Given the description of an element on the screen output the (x, y) to click on. 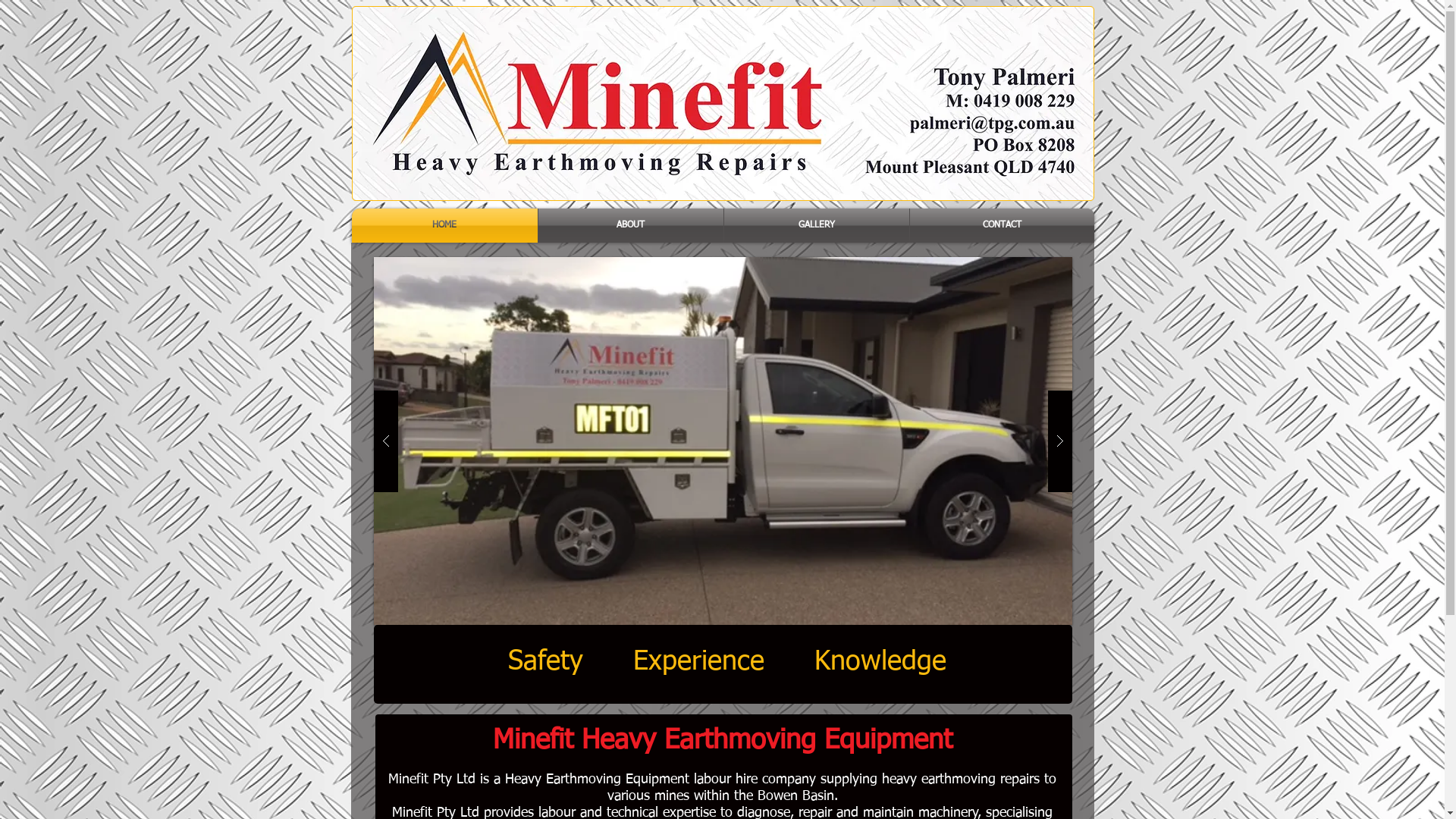
ABOUT Element type: text (630, 225)
Minefit Heavy Earthmoving Repairs Element type: hover (722, 103)
GALLERY Element type: text (815, 225)
HOME Element type: text (444, 225)
CONTACT Element type: text (1002, 225)
